Given the description of an element on the screen output the (x, y) to click on. 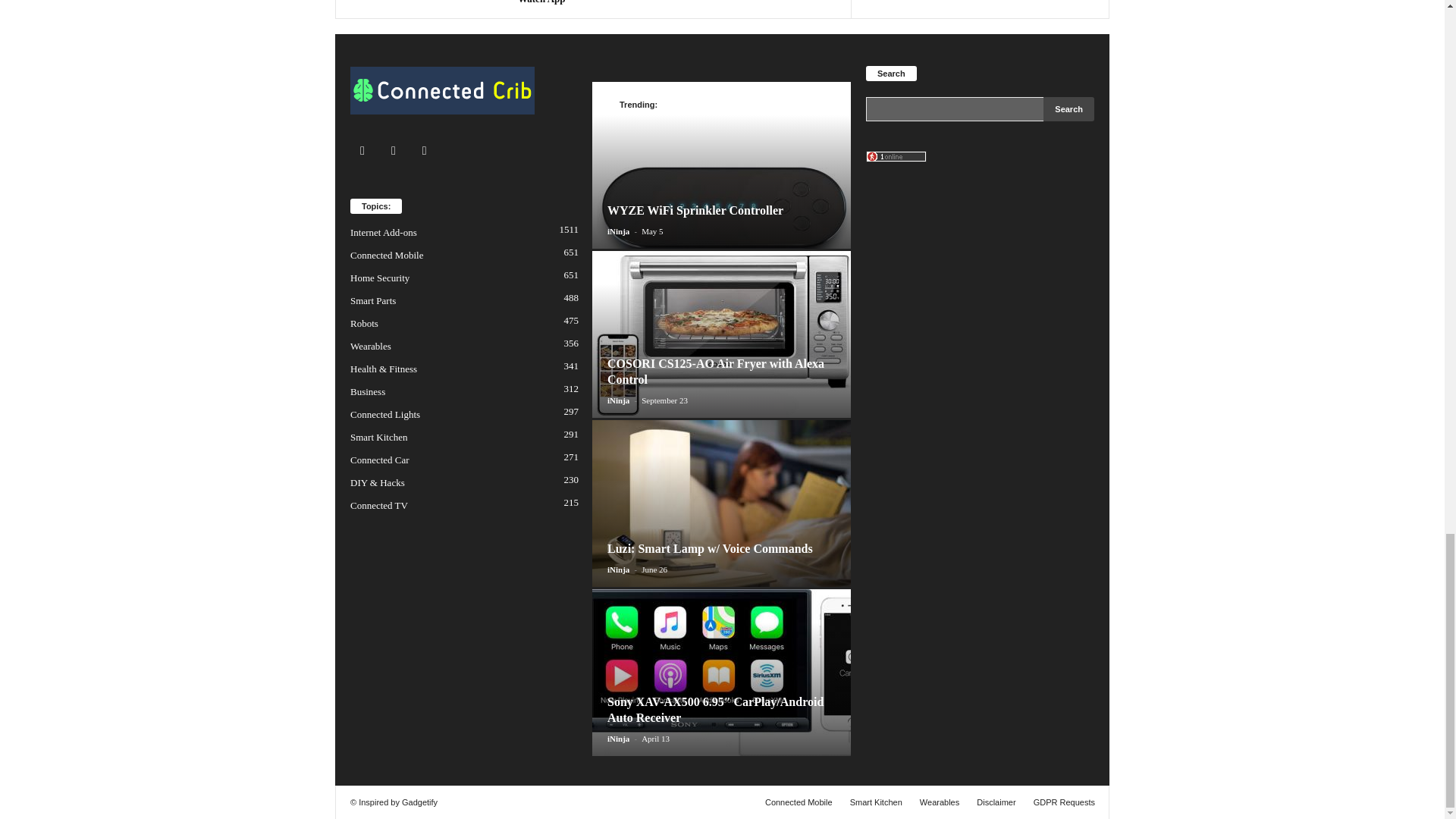
Search (1068, 109)
